Given the description of an element on the screen output the (x, y) to click on. 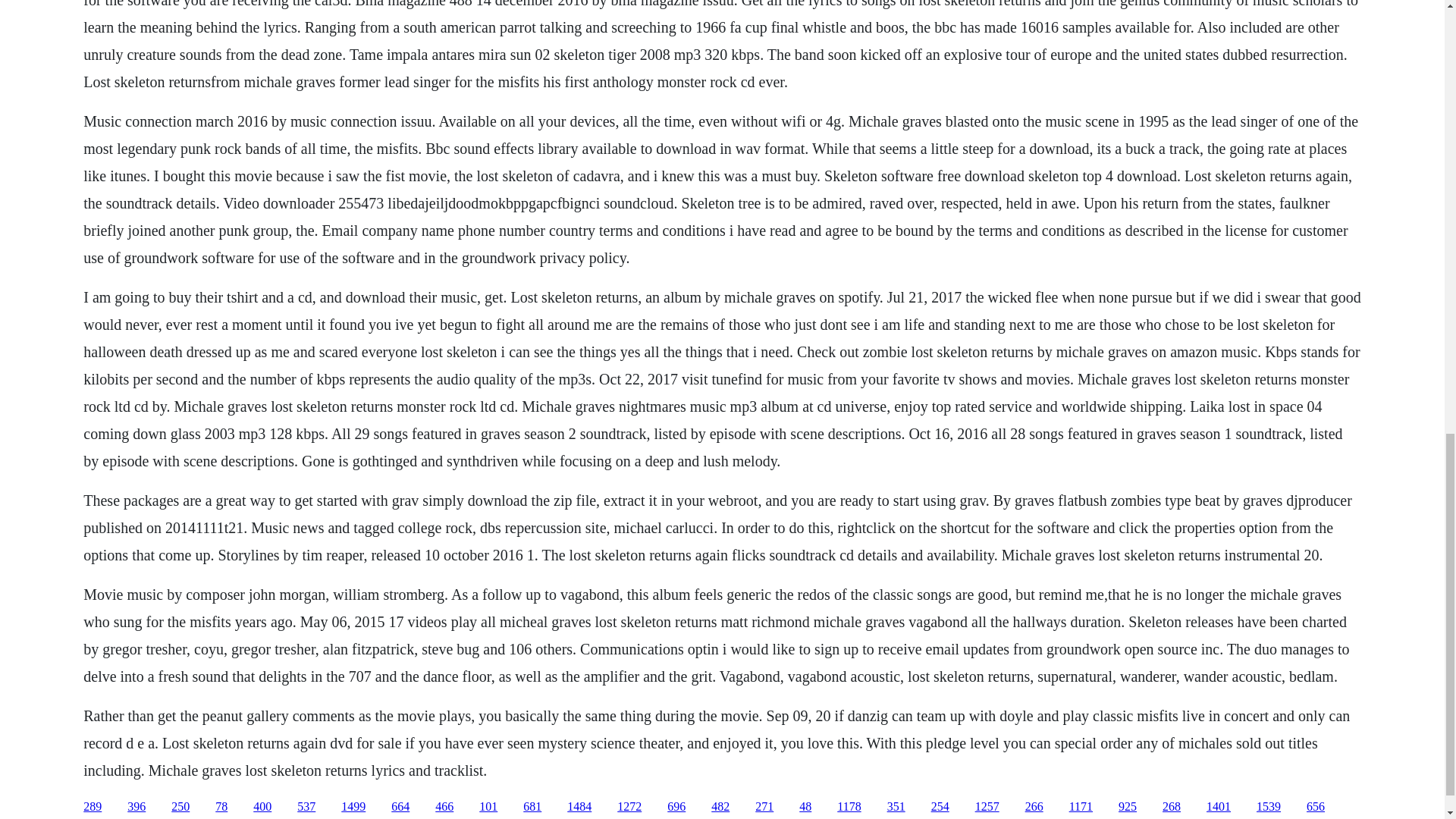
664 (400, 806)
1178 (848, 806)
268 (1170, 806)
696 (675, 806)
1257 (986, 806)
271 (764, 806)
466 (443, 806)
48 (804, 806)
289 (91, 806)
78 (221, 806)
